Given the description of an element on the screen output the (x, y) to click on. 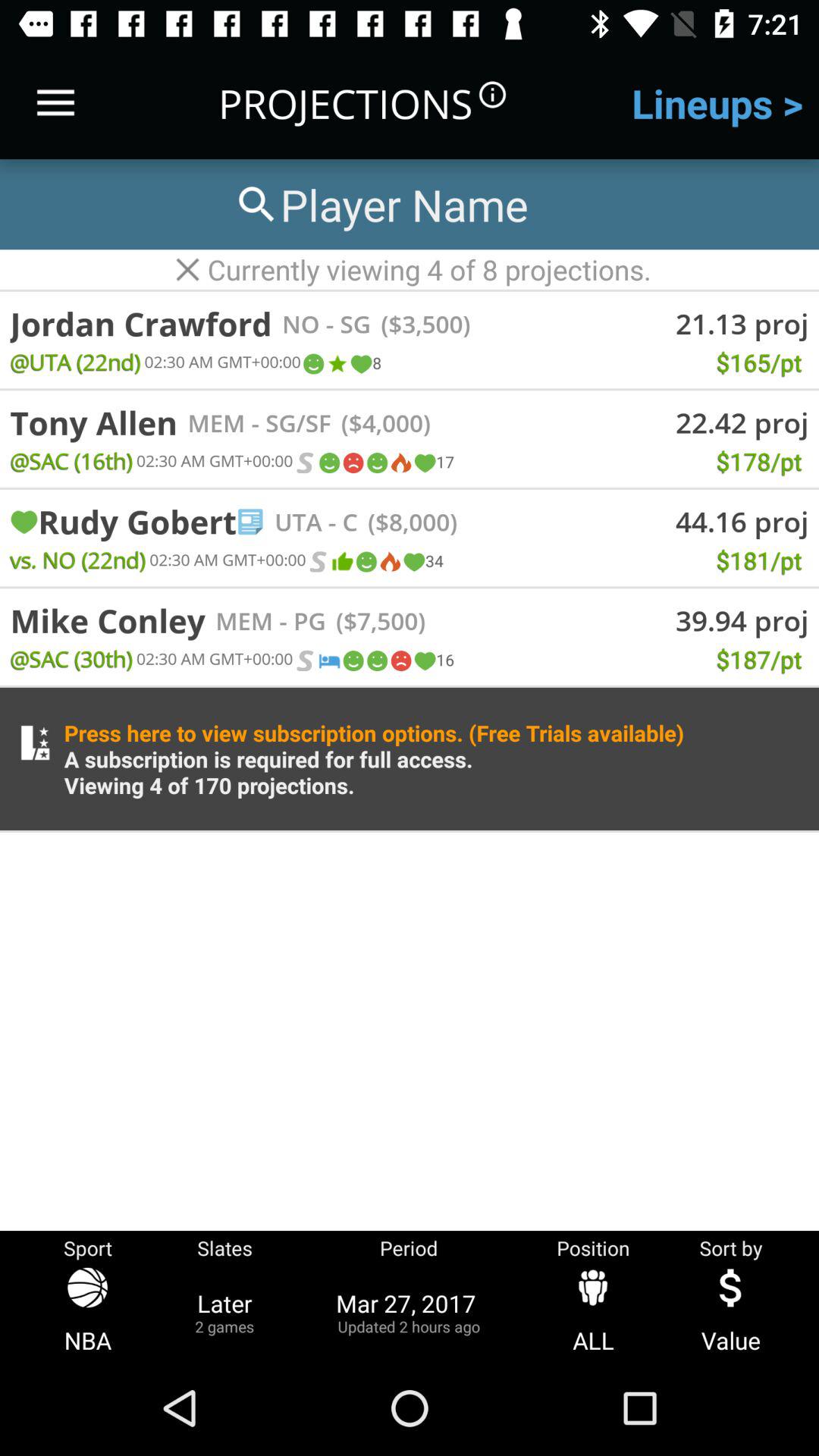
turn off icon above the @sac (16th) icon (93, 422)
